Given the description of an element on the screen output the (x, y) to click on. 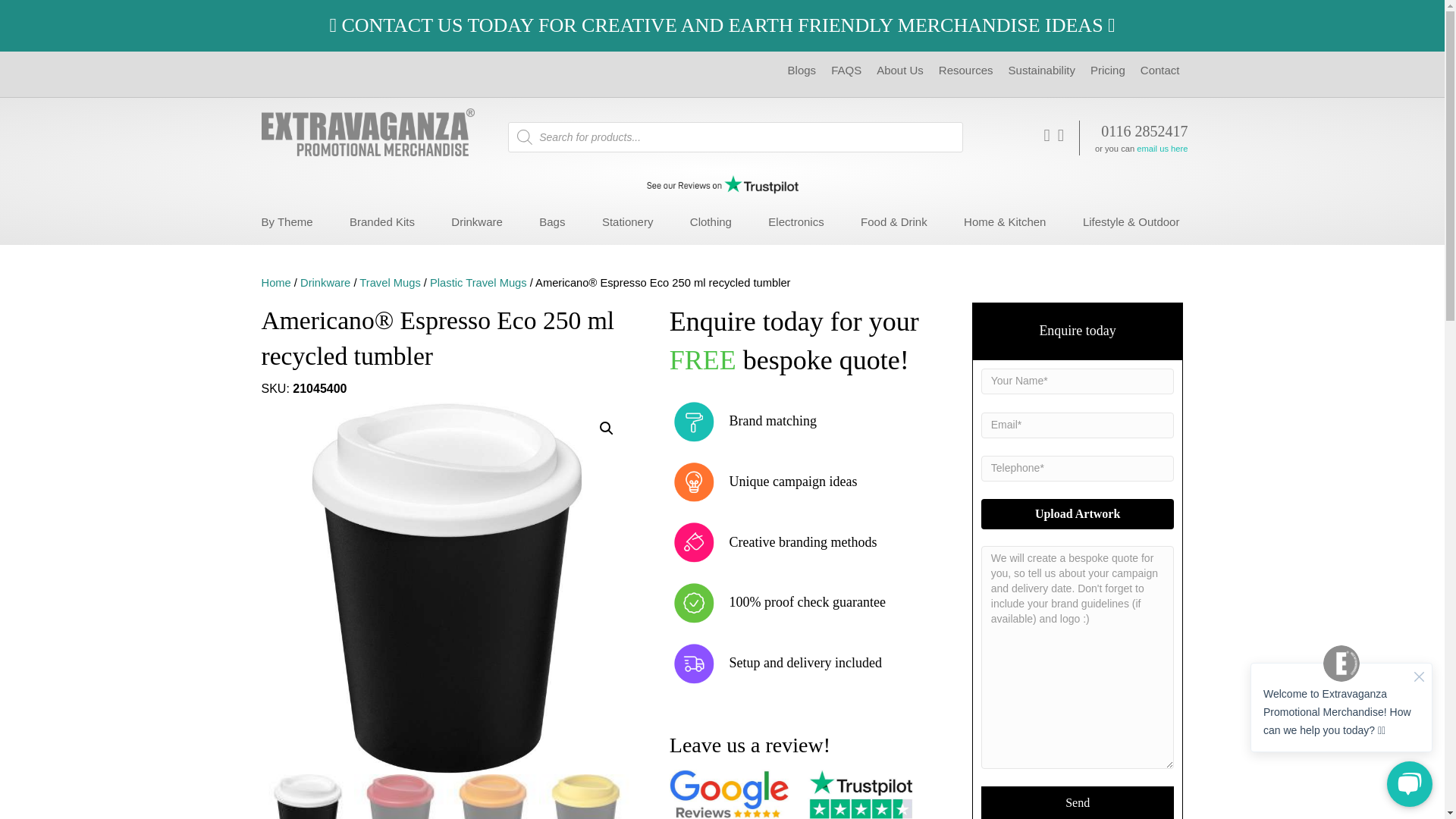
Send (1077, 802)
Click here to find out more (722, 25)
my acount (1046, 135)
Wishlist (1061, 135)
email extravaganza team (1162, 148)
Read our reviews on Trustpilot (721, 187)
